Given the description of an element on the screen output the (x, y) to click on. 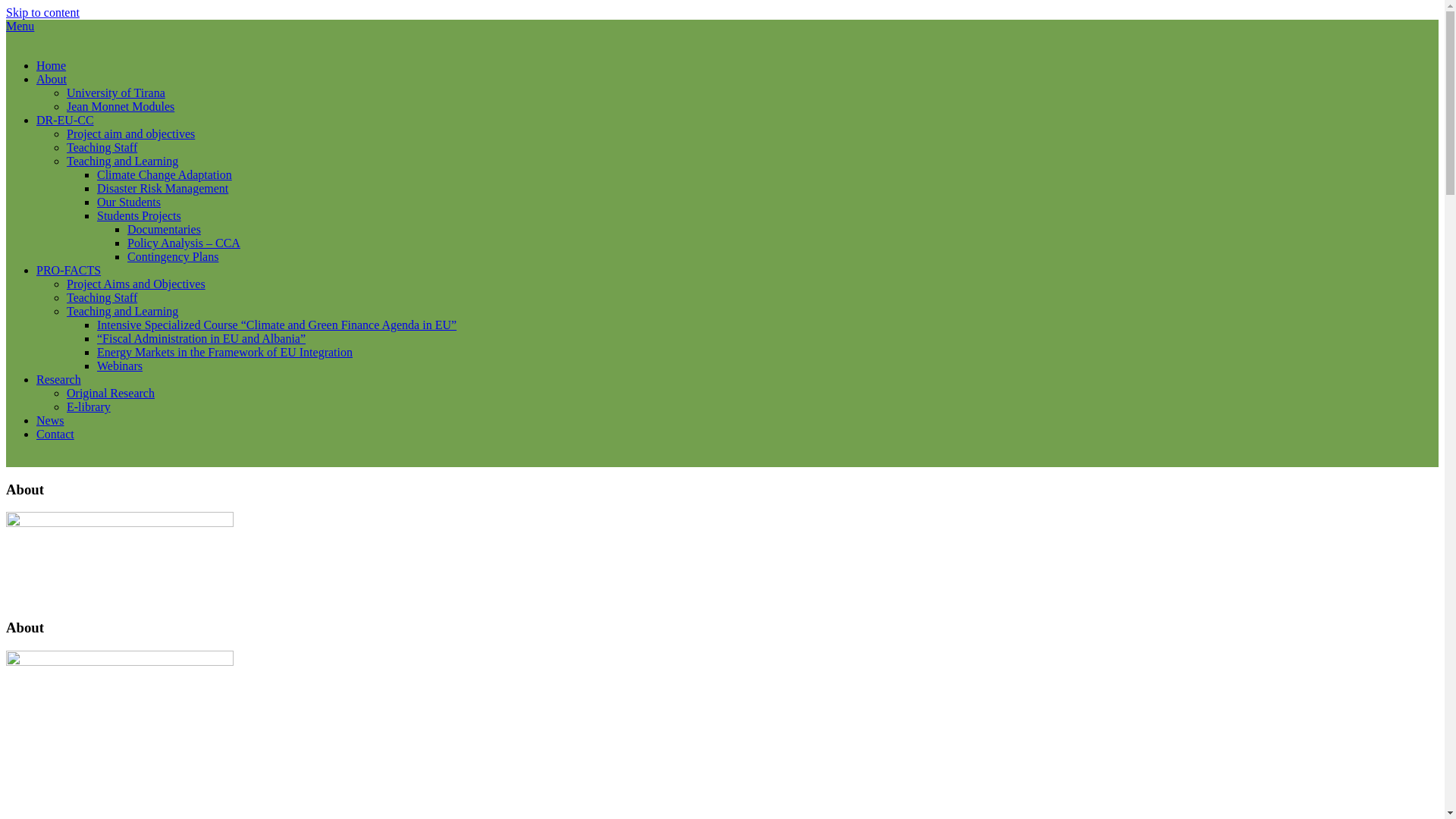
DR-EU-CC (65, 119)
Home (50, 65)
Project Aims and Objectives (135, 283)
E-library (88, 406)
Teaching and Learning (121, 160)
Jean Monnet Modules (120, 106)
Teaching Staff (101, 297)
Original Research (110, 392)
Contingency Plans (173, 256)
University of Tirana (115, 92)
Disaster Risk Management (162, 187)
Menu (19, 25)
Research (58, 379)
Documentaries (164, 228)
Our Students (128, 201)
